Given the description of an element on the screen output the (x, y) to click on. 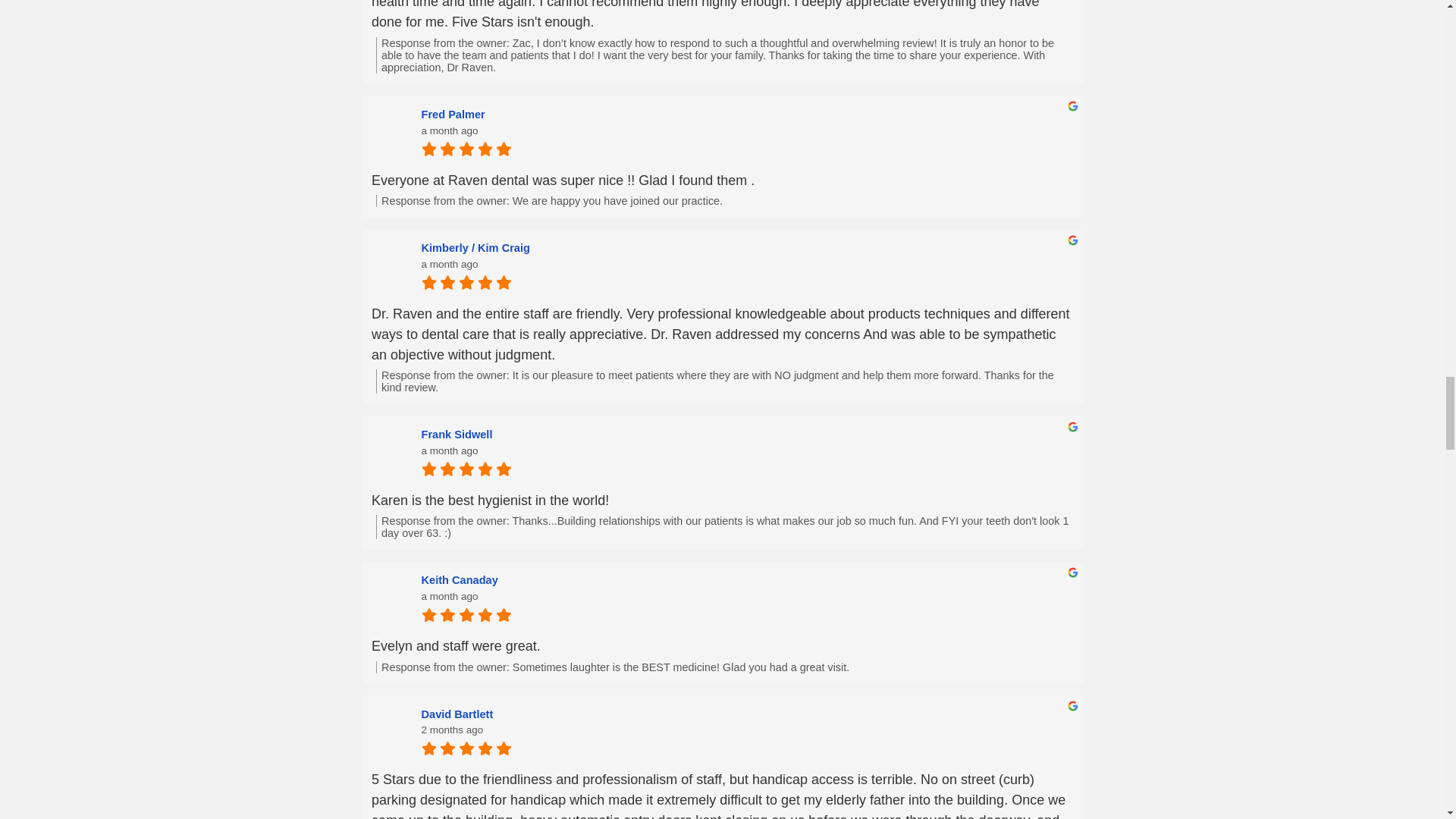
Karen is the best hygienist in the world! (722, 500)
Evelyn and staff were great. (722, 646)
